Given the description of an element on the screen output the (x, y) to click on. 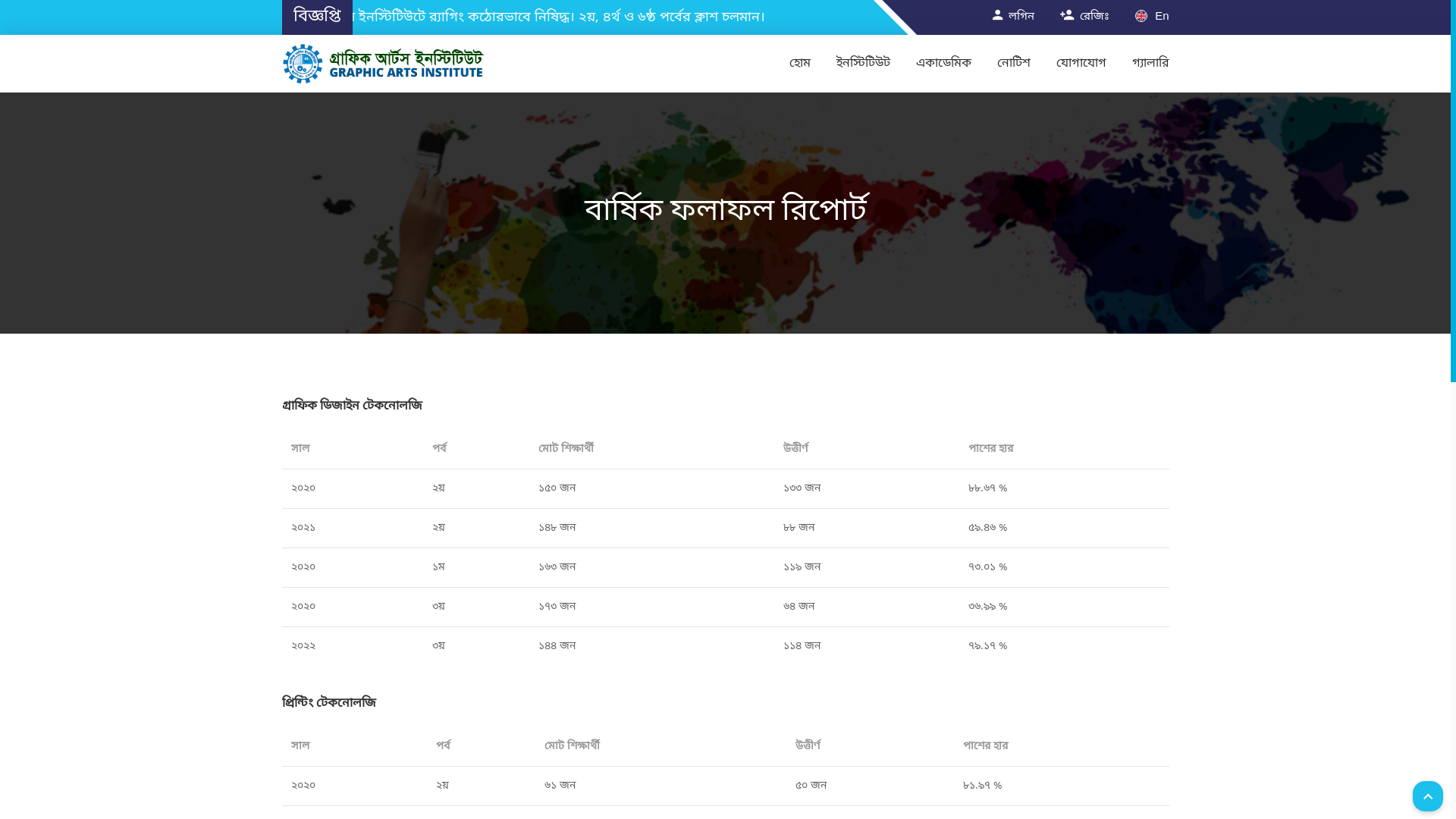
En Element type: text (1151, 16)
